Given the description of an element on the screen output the (x, y) to click on. 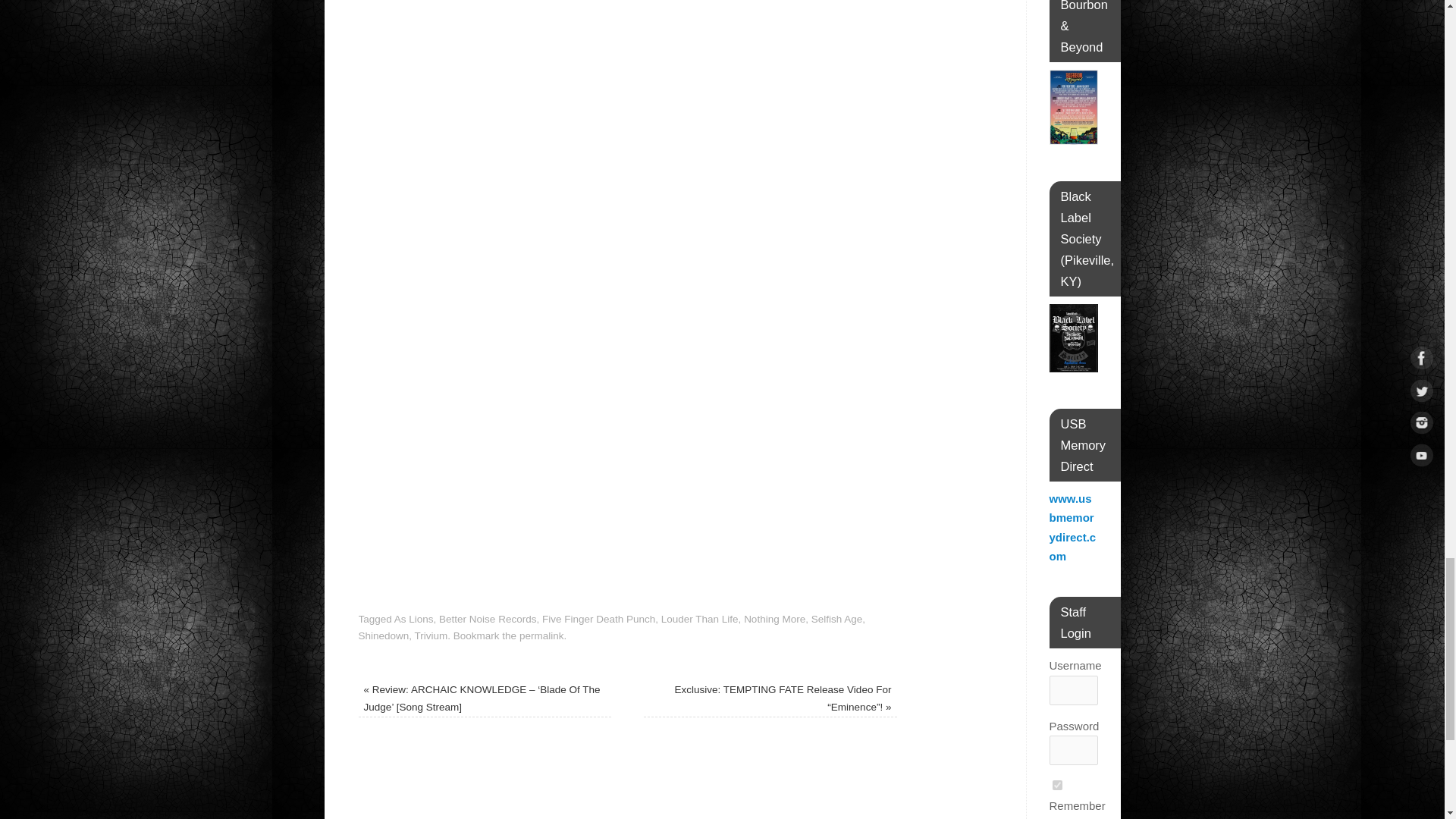
Nothing More (774, 618)
YouTube player (627, 113)
Permalink to Louder Than Life Spotlight: AS LIONS (541, 635)
As Lions (413, 618)
Selfish Age (836, 618)
Five Finger Death Punch (598, 618)
forever (1057, 785)
Better Noise Records (487, 618)
permalink (541, 635)
Shinedown (383, 635)
Louder Than Life (699, 618)
Trivium (431, 635)
